Given the description of an element on the screen output the (x, y) to click on. 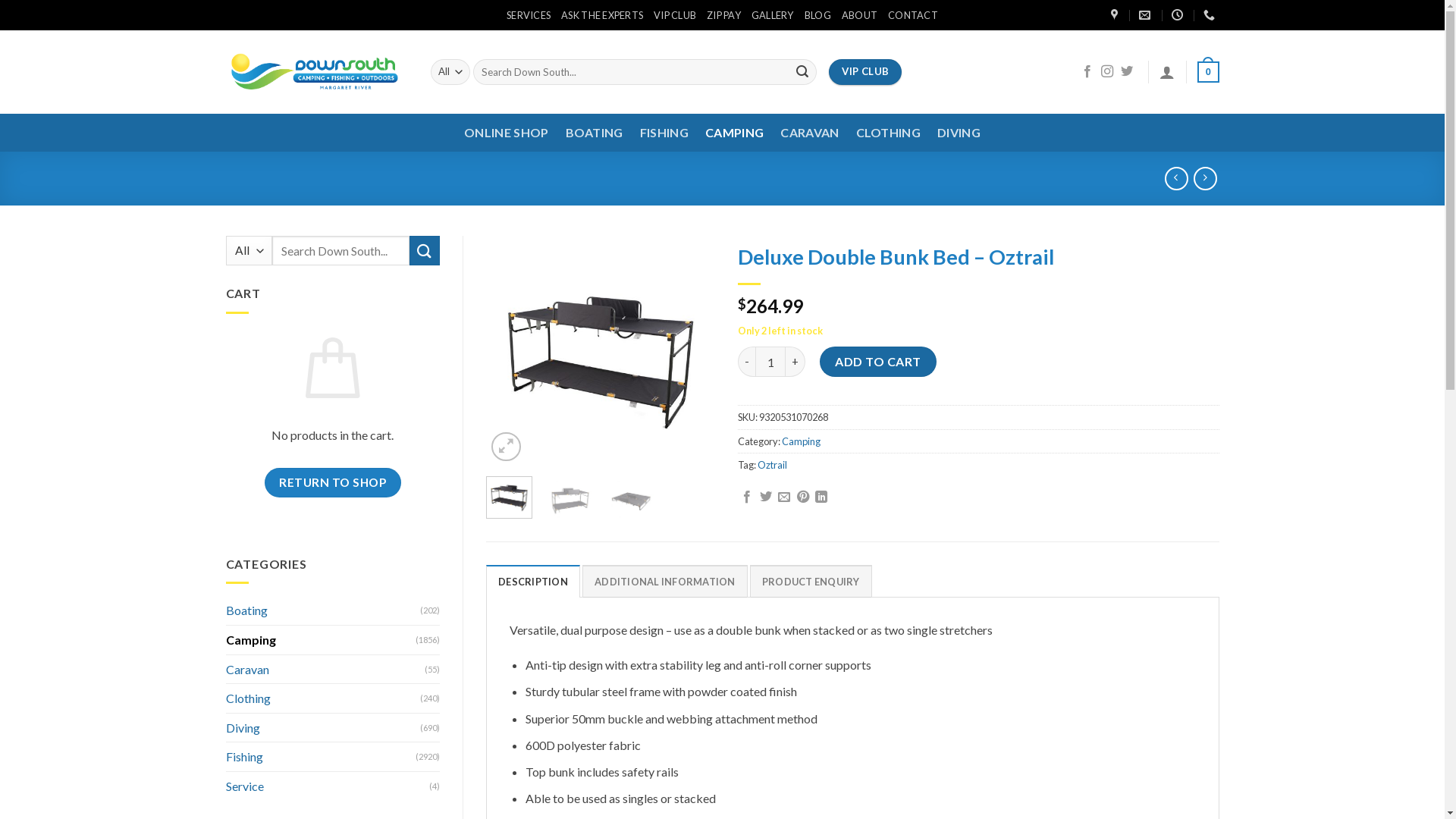
DESCRIPTION Element type: text (533, 580)
Deluxe Double Bunk Bed - Oztrail 4 Element type: hover (371, 349)
Share on Twitter Element type: hover (765, 497)
Service Element type: text (327, 785)
Search Element type: text (424, 250)
Share on LinkedIn Element type: hover (821, 497)
Camping Element type: text (320, 639)
Deluxe Double Bunk Bed - Oztrail 5 Element type: hover (569, 498)
Down South Camping & Outdoors - Margaret River Region Element type: hover (316, 71)
(08) 9758 8966 Element type: hover (1210, 14)
DIVING Element type: text (958, 132)
CONTACT Element type: text (913, 14)
ASK THE EXPERTS Element type: text (602, 14)
Share on Facebook Element type: hover (746, 497)
Caravan Element type: text (325, 669)
Oztrail Element type: text (772, 464)
ADDITIONAL INFORMATION Element type: text (664, 580)
Follow on Twitter Element type: hover (1126, 71)
Deluxe Double Bunk Bed - Oztrail 6 Element type: hover (630, 498)
GALLERY Element type: text (772, 14)
RETURN TO SHOP Element type: text (332, 482)
Follow on Instagram Element type: hover (1107, 71)
VIP CLUB Element type: text (674, 14)
CAMPING Element type: text (734, 132)
ONLINE SHOP Element type: text (506, 132)
Search Element type: text (802, 71)
Deluxe Double Bunk Bed - Oztrail 2 Element type: hover (600, 349)
Fishing Element type: text (320, 756)
PRODUCT ENQUIRY Element type: text (810, 580)
Camping Element type: text (800, 441)
admin@downsouthcamping.com.au Element type: hover (1146, 14)
CLOTHING Element type: text (888, 132)
CARAVAN Element type: text (809, 132)
ZIP PAY Element type: text (723, 14)
SERVICES Element type: text (528, 14)
BLOG Element type: text (817, 14)
0 Element type: text (1207, 71)
1/40 Station Road, Margaret River WA 6285 Element type: hover (1115, 14)
Zoom Element type: hover (505, 446)
Follow on Facebook Element type: hover (1087, 71)
ABOUT Element type: text (859, 14)
Pin on Pinterest Element type: hover (803, 497)
Email to a Friend Element type: hover (784, 497)
ADD TO CART Element type: text (877, 361)
Boating Element type: text (322, 610)
FISHING Element type: text (664, 132)
Diving Element type: text (322, 727)
Clothing Element type: text (322, 698)
VIP CLUB Element type: text (864, 71)
BOATING Element type: text (594, 132)
